Given the description of an element on the screen output the (x, y) to click on. 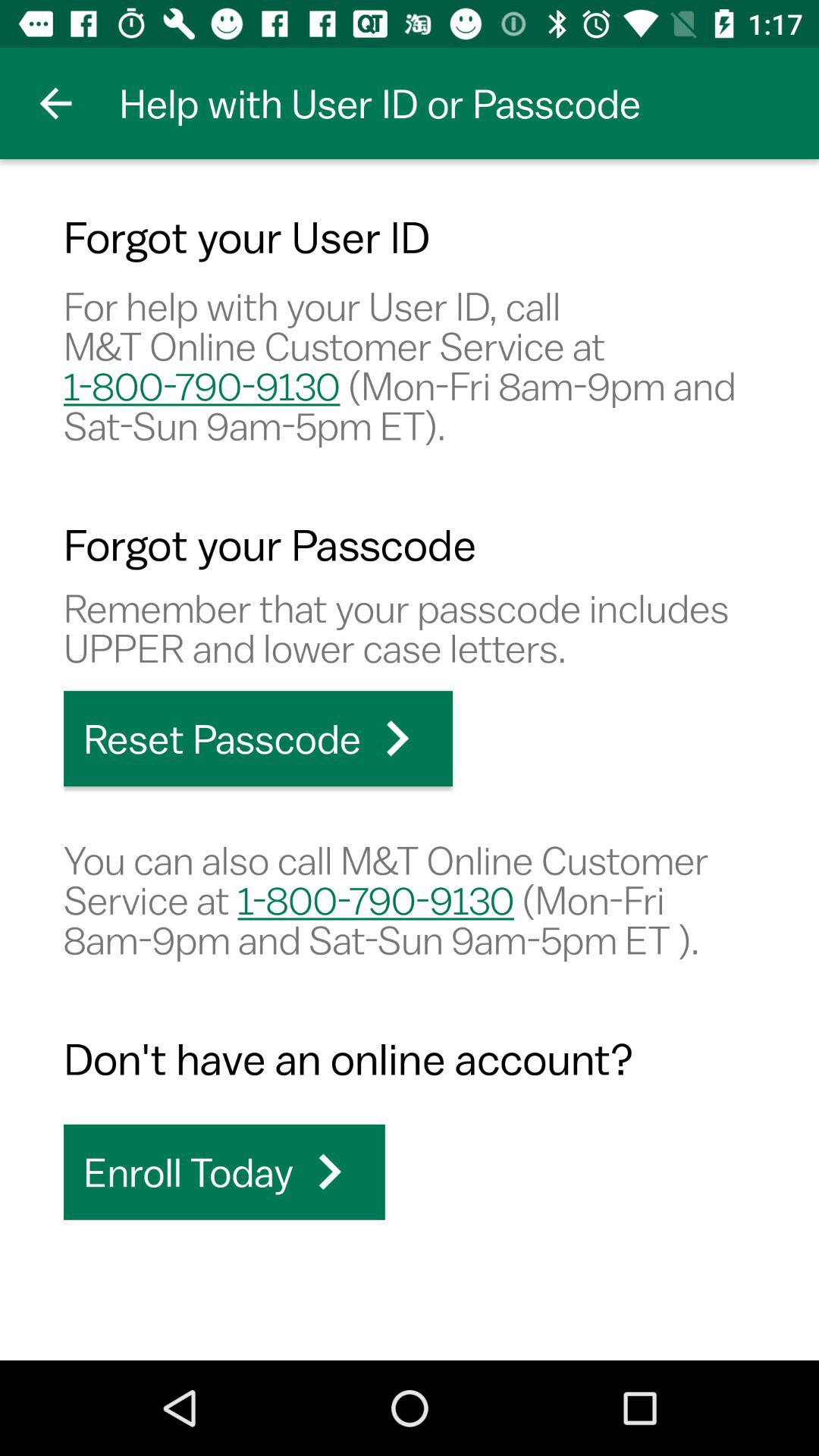
jump to you can also item (409, 899)
